Given the description of an element on the screen output the (x, y) to click on. 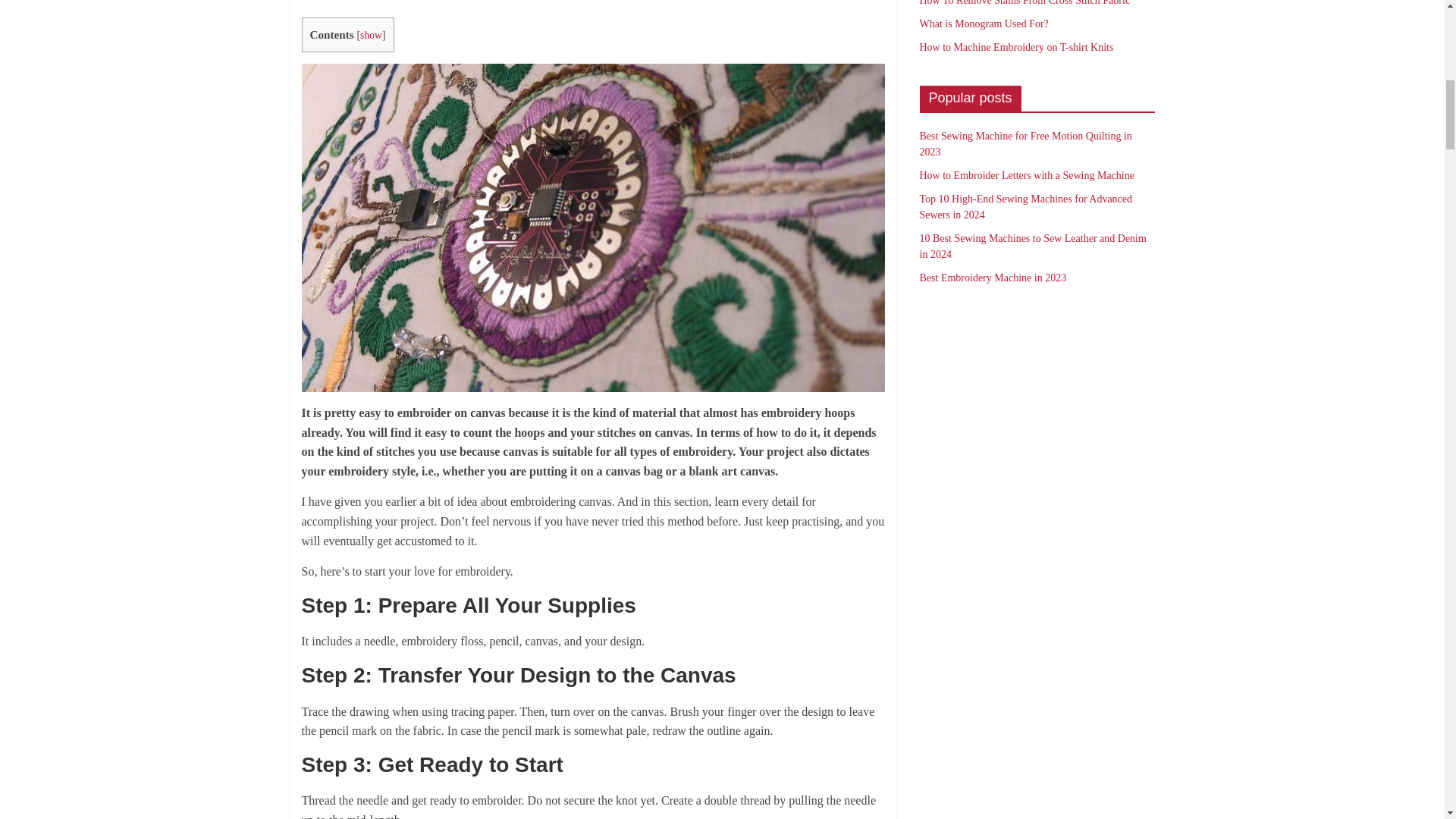
show (370, 34)
